Given the description of an element on the screen output the (x, y) to click on. 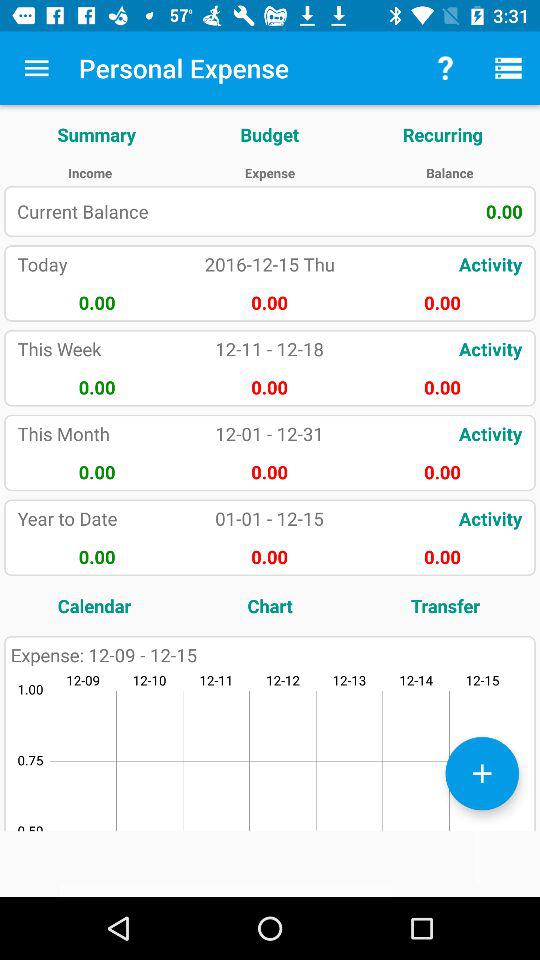
turn off item to the right of the summary icon (269, 134)
